Given the description of an element on the screen output the (x, y) to click on. 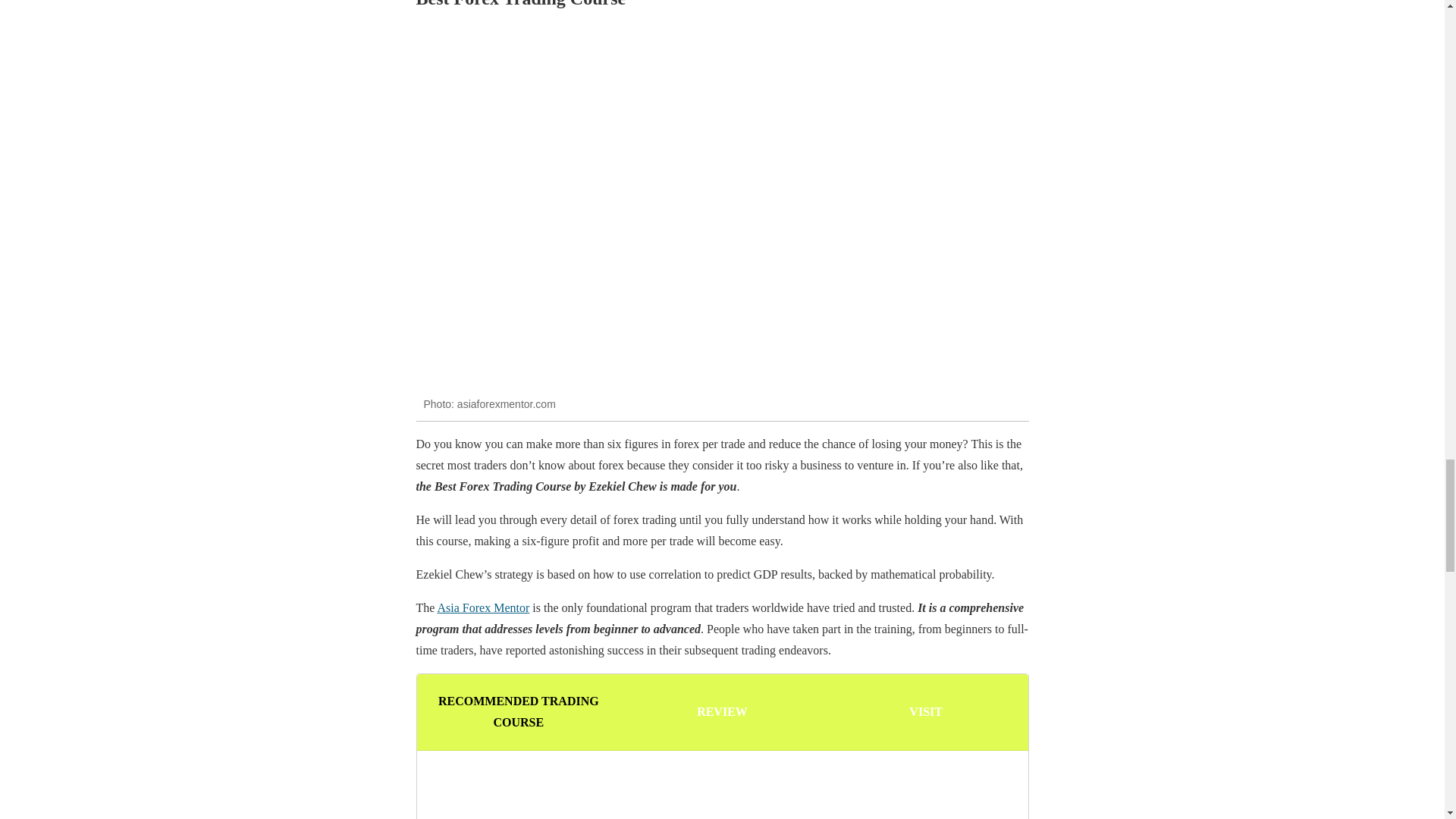
Asia Forex Mentor (482, 607)
